Given the description of an element on the screen output the (x, y) to click on. 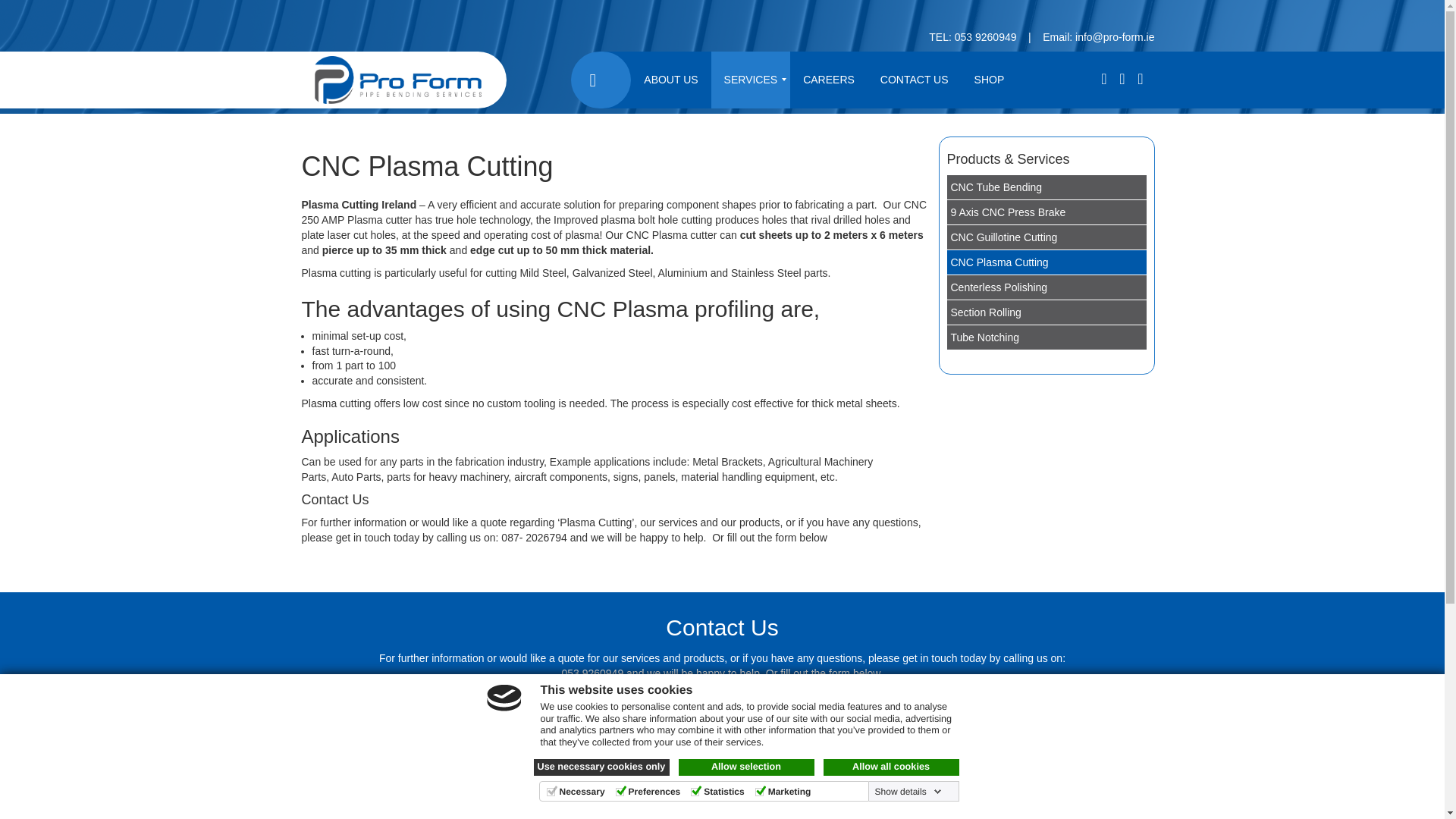
Use necessary cookies only (601, 767)
Allow all cookies (891, 767)
Show details (908, 791)
Allow selection (745, 767)
